Given the description of an element on the screen output the (x, y) to click on. 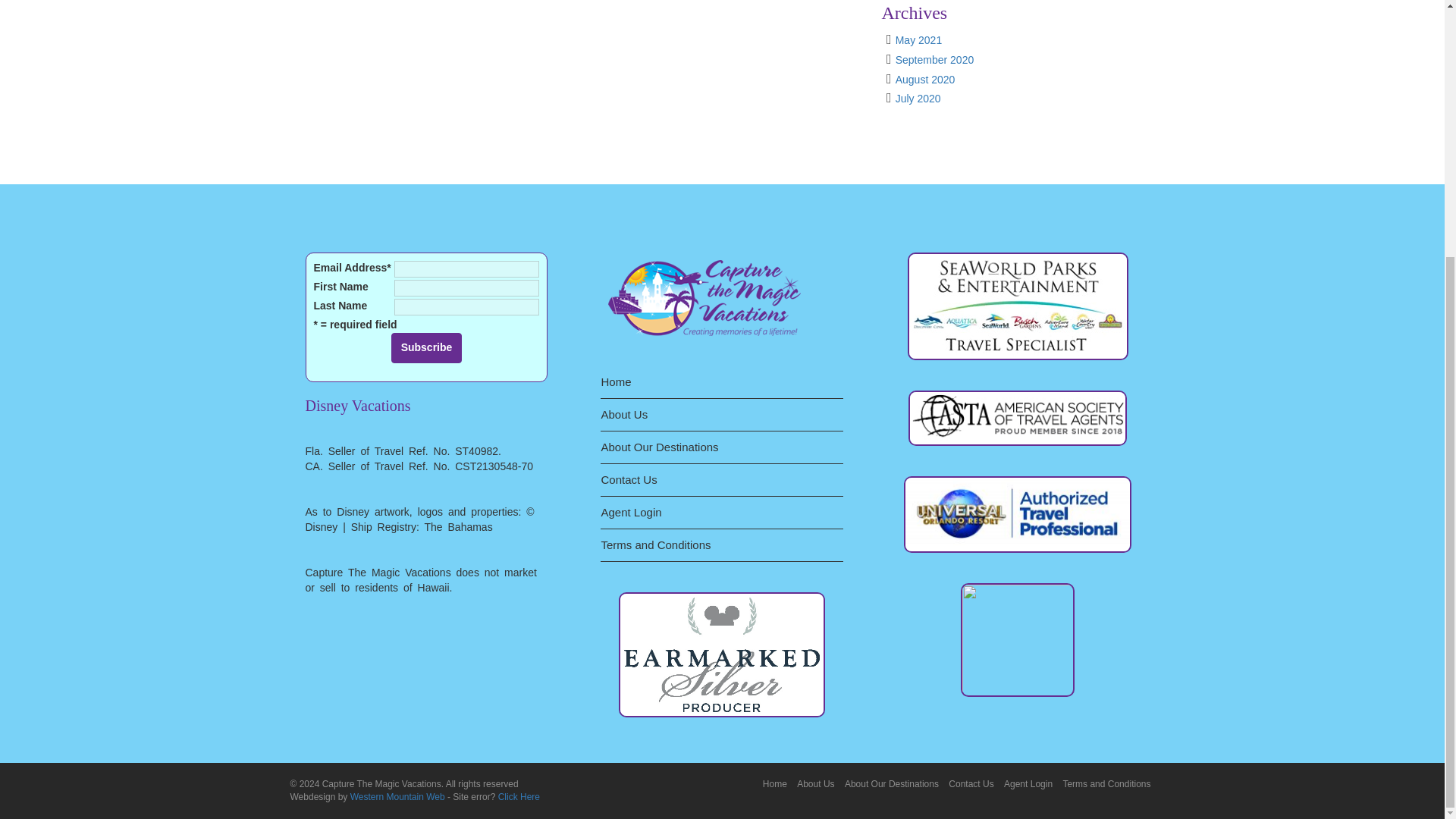
Subscribe (427, 347)
